Given the description of an element on the screen output the (x, y) to click on. 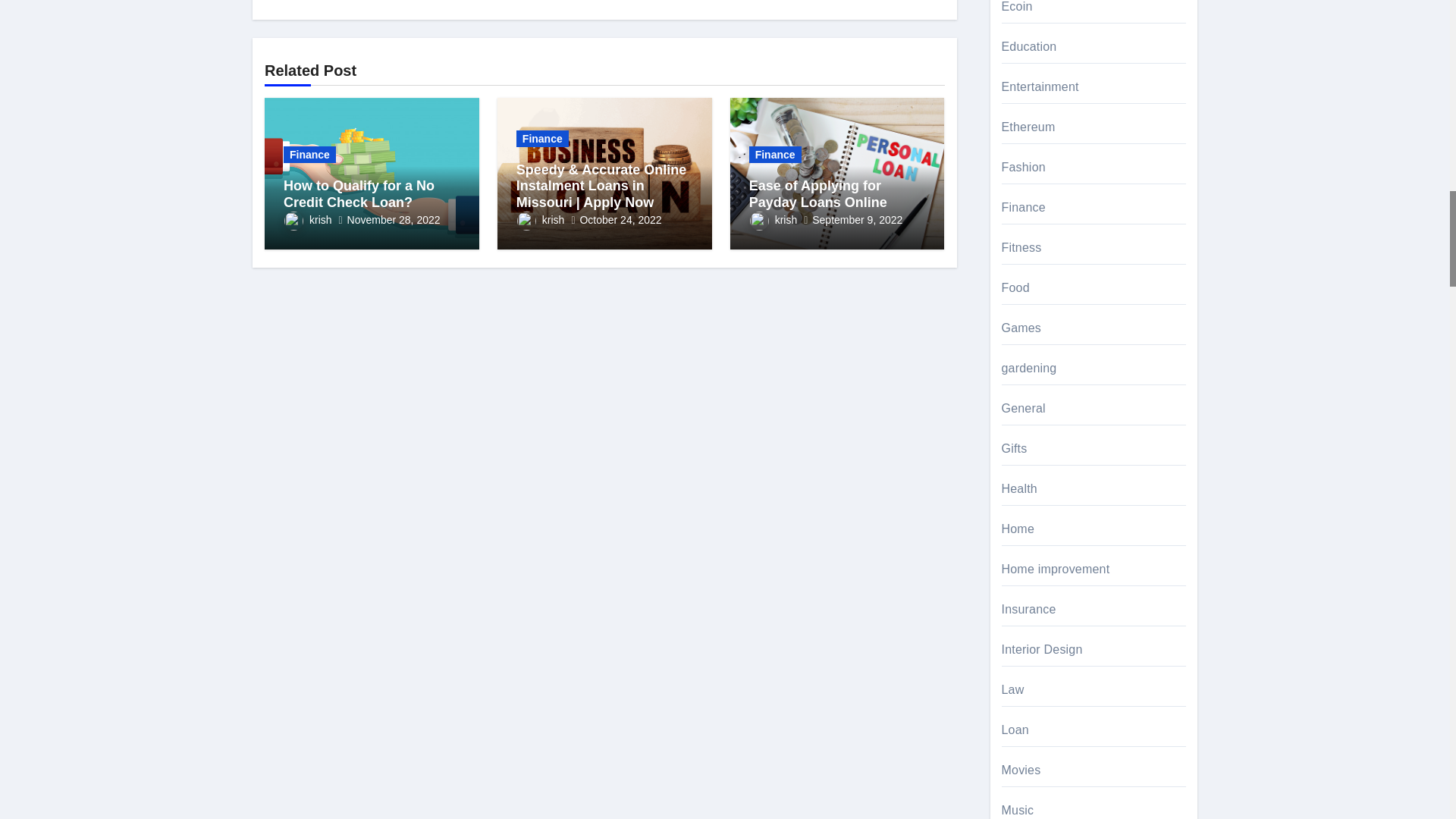
Finance (309, 154)
Permalink to: How to Qualify for a No Credit Check Loan? (358, 193)
How to Qualify for a No Credit Check Loan? (358, 193)
Permalink to: Ease of Applying for Payday Loans Online (817, 193)
